Given the description of an element on the screen output the (x, y) to click on. 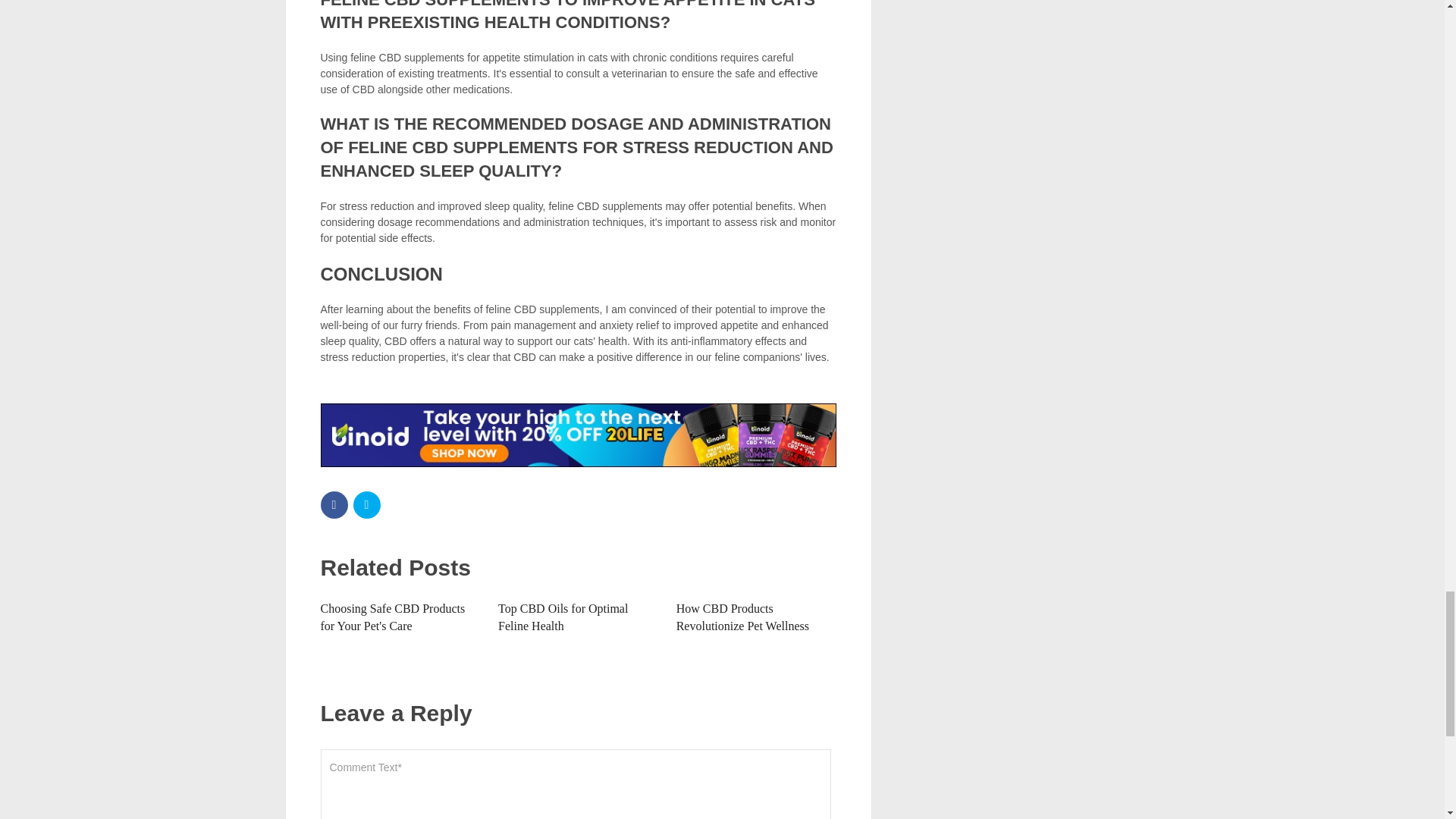
How CBD Products Revolutionize Pet Wellness (743, 616)
How CBD Products Revolutionize Pet Wellness (743, 616)
Choosing Safe CBD Products for Your Pet's Care (392, 616)
Choosing Safe CBD Products for Your Pet's Care (392, 616)
Top CBD Oils for Optimal Feline Health (562, 616)
Top CBD Oils for Optimal Feline Health (562, 616)
